Given the description of an element on the screen output the (x, y) to click on. 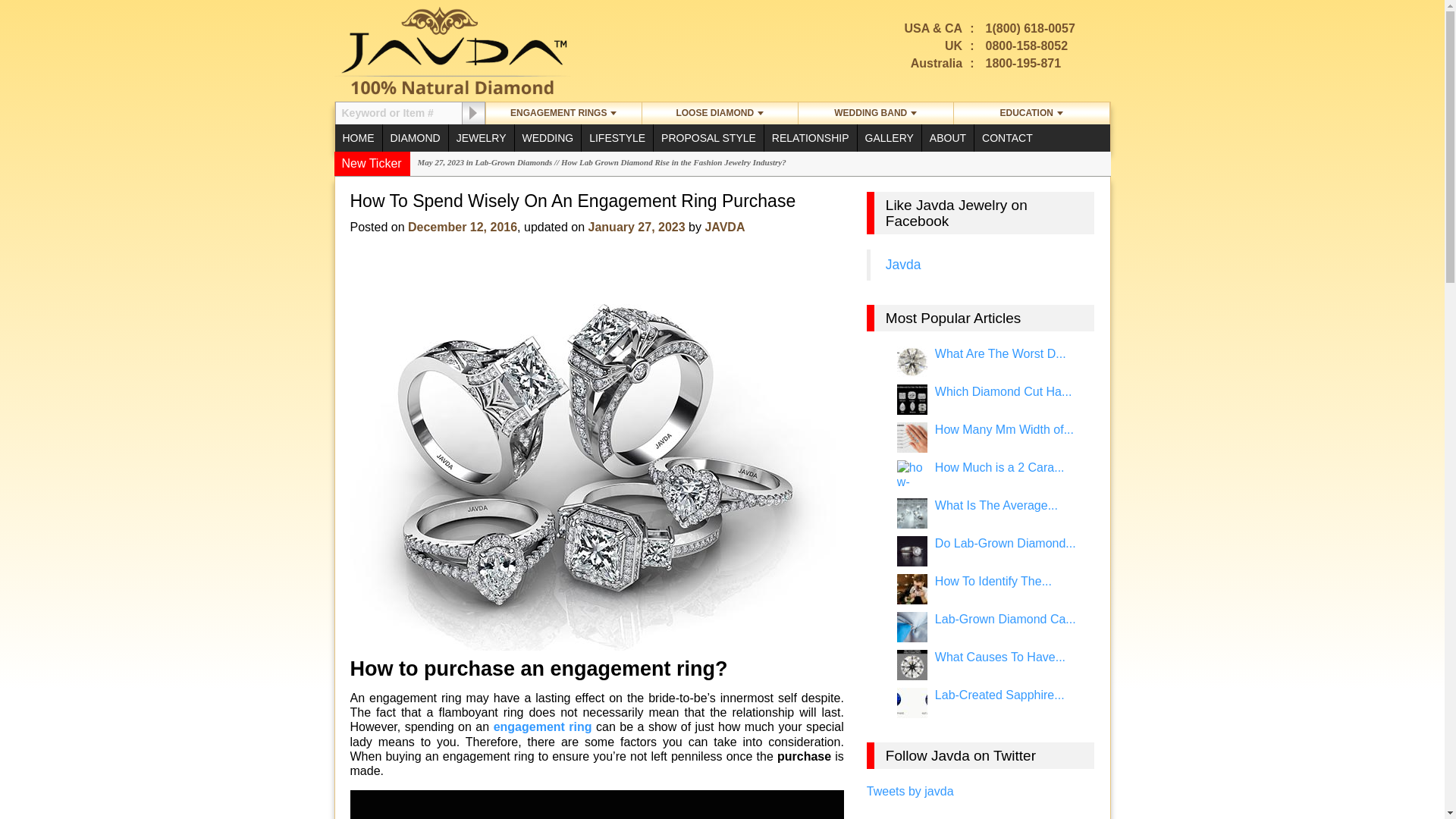
1800-195-871 (1023, 62)
WEDDING BAND (875, 113)
0800-158-8052 (1026, 45)
Search (472, 113)
LOOSE DIAMOND (719, 113)
Search (397, 113)
ENGAGEMENT RINGS (563, 113)
